Given the description of an element on the screen output the (x, y) to click on. 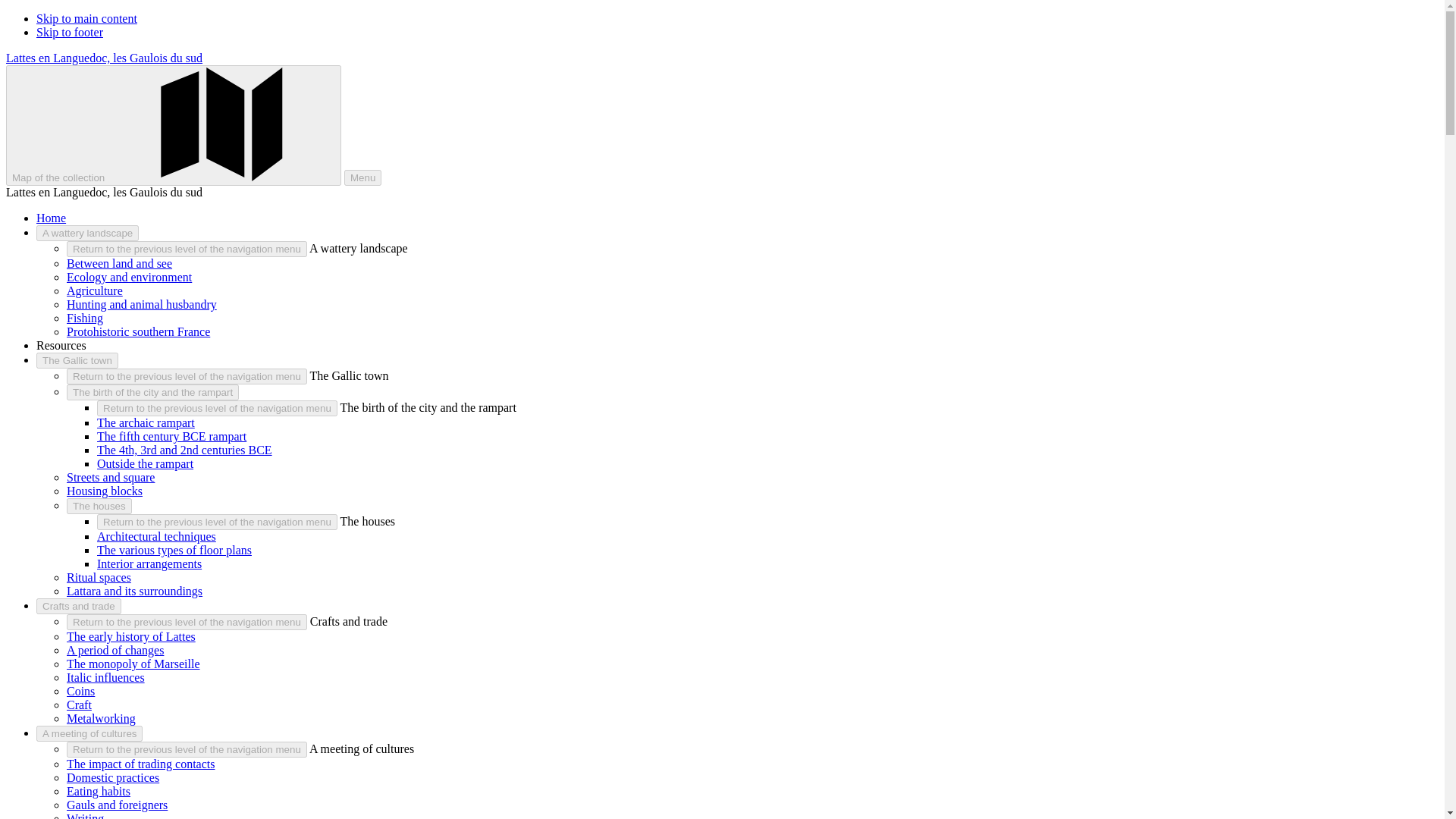
Return to the previous level of the navigation menu (217, 521)
Housing blocks (104, 490)
Architectural techniques (156, 535)
Ritual spaces (98, 576)
Between land and see (118, 263)
A period of changes (114, 649)
Interior arrangements (149, 563)
The fifth century BCE rampart (171, 436)
The houses (99, 505)
Return to the previous level of the navigation menu (186, 248)
The Gallic town (76, 360)
Lattes en Languedoc, les Gaulois du sud (103, 57)
Resources (60, 345)
Return to the previous level of the navigation menu (186, 621)
Return to the previous level of the navigation menu (217, 408)
